Given the description of an element on the screen output the (x, y) to click on. 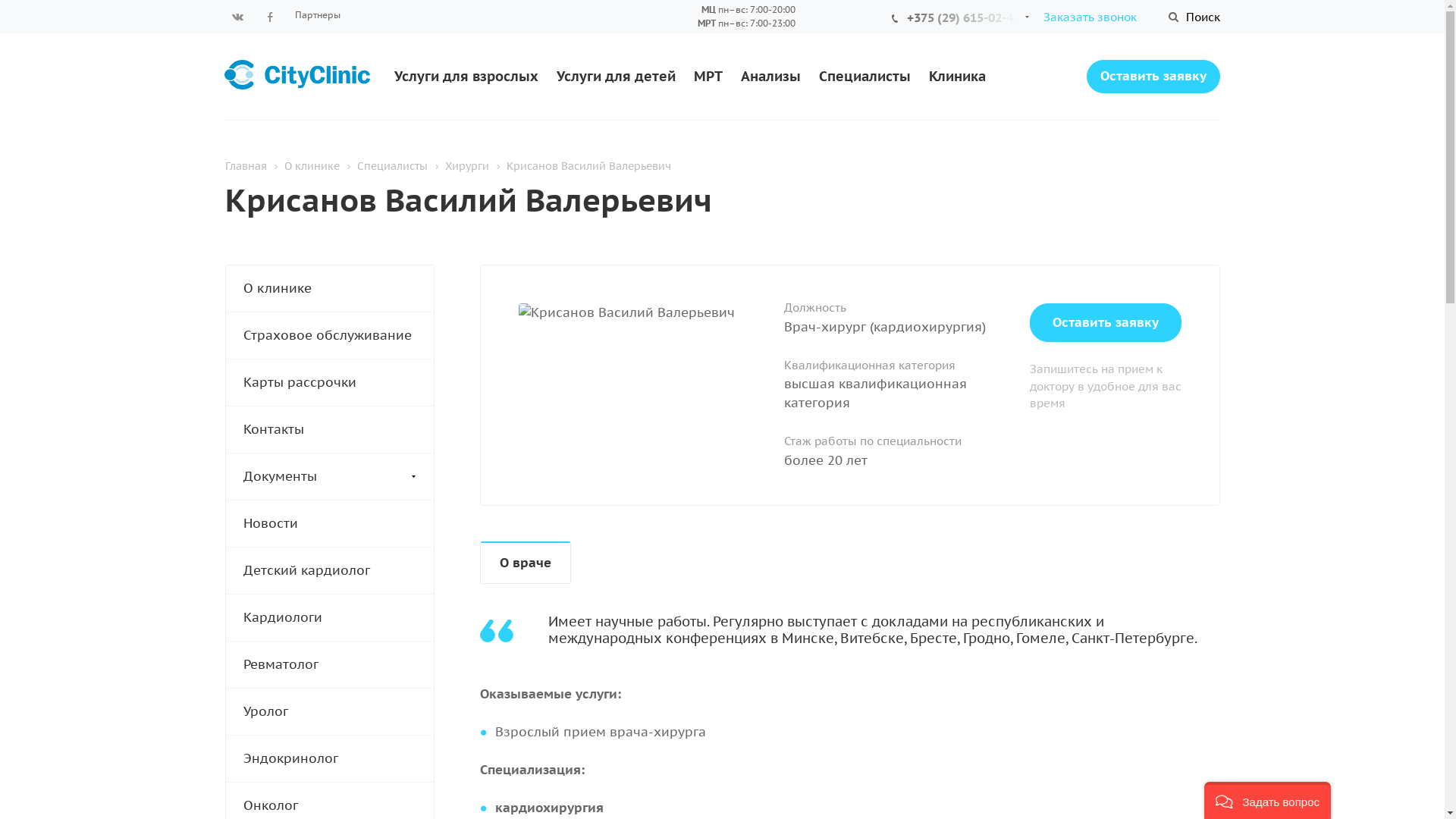
CityClinic Element type: hover (297, 74)
Facebook Element type: text (269, 16)
+375 (29) 615-02-4 Element type: text (962, 17)
